Given the description of an element on the screen output the (x, y) to click on. 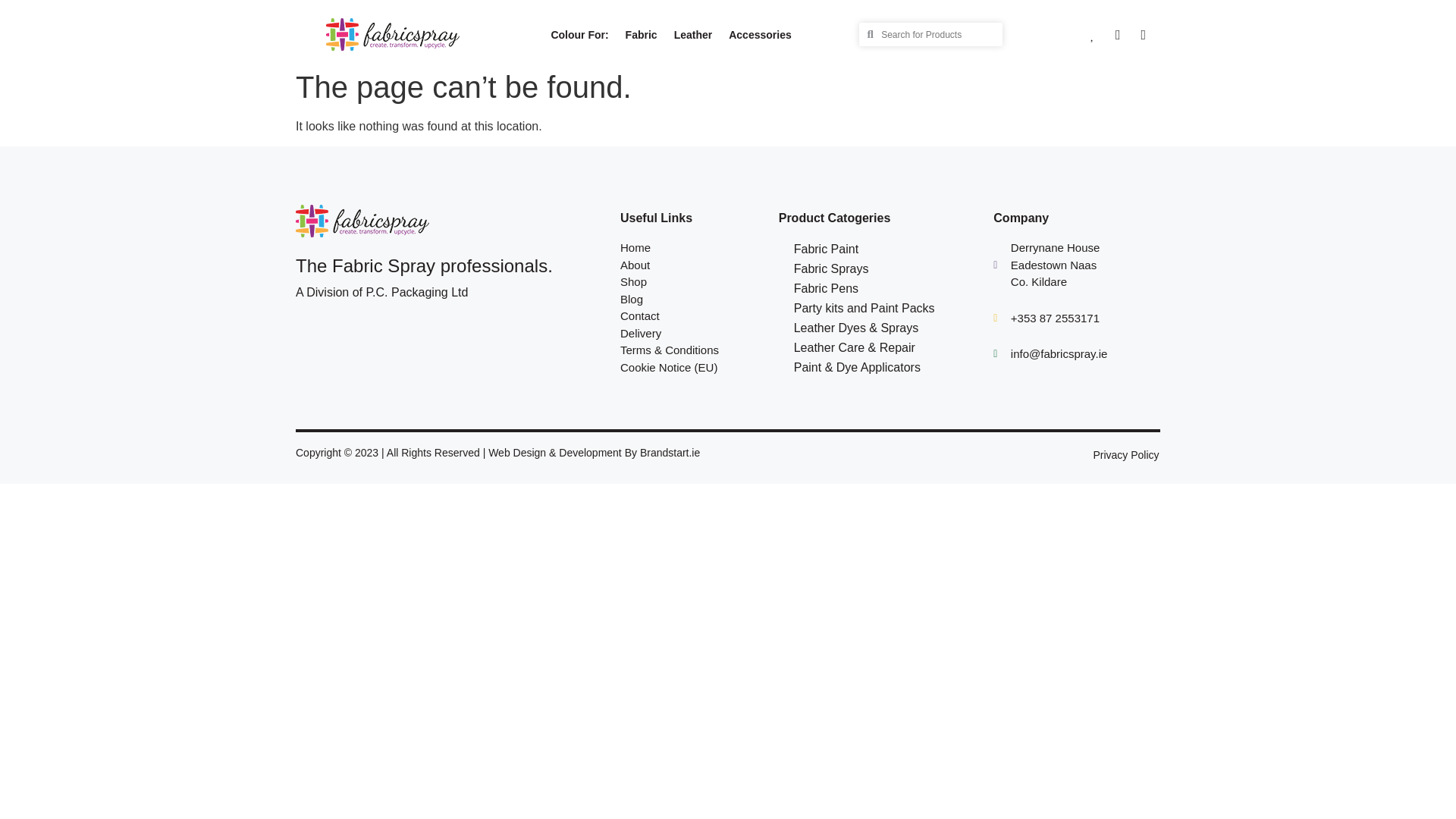
Accessories (759, 33)
Fabric (641, 33)
Colour For: (579, 33)
Leather (693, 33)
Shop (691, 282)
Blog (691, 299)
About (691, 265)
Home (691, 248)
